Given the description of an element on the screen output the (x, y) to click on. 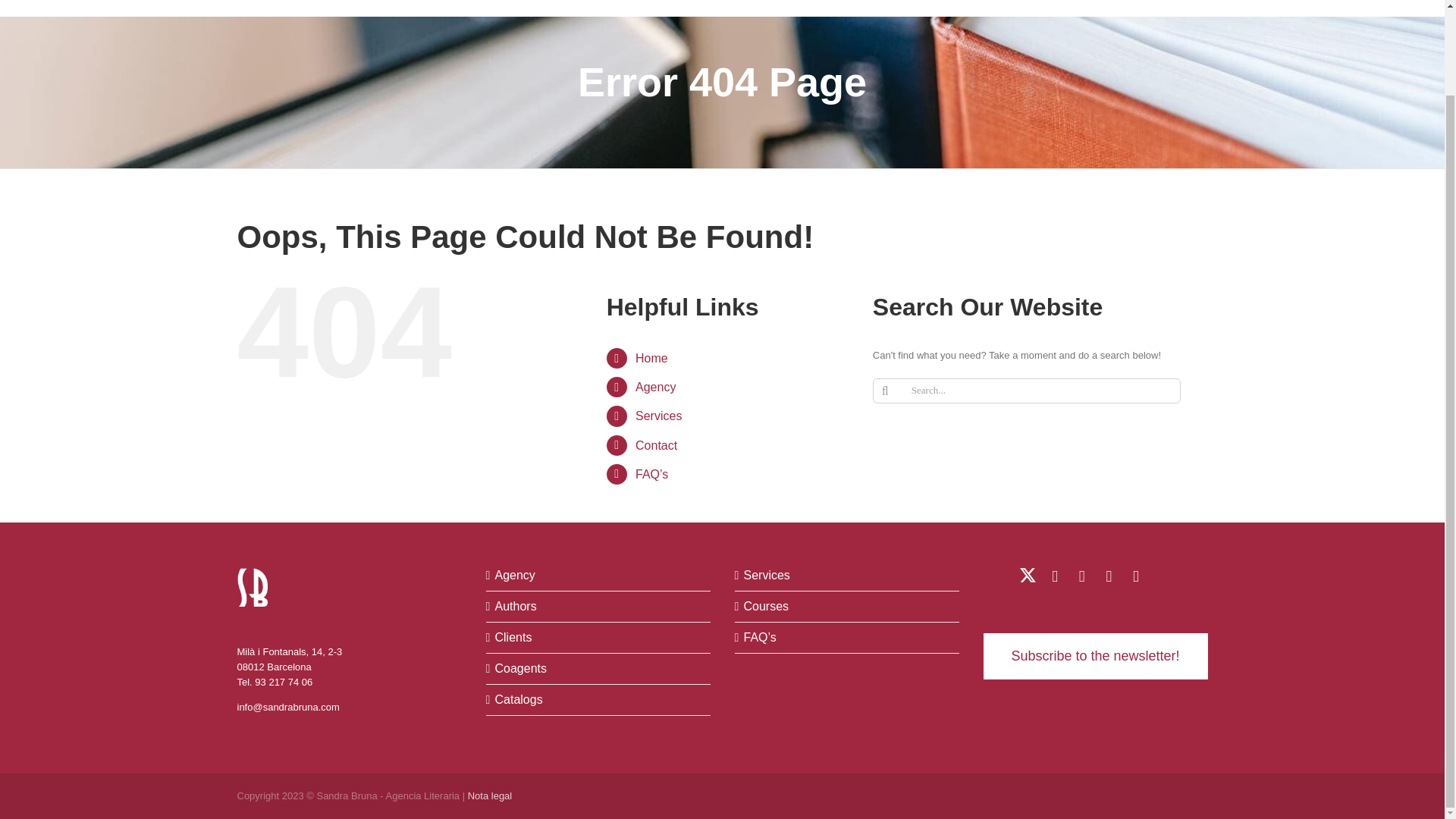
COURSES (983, 7)
LinkedIn (1054, 576)
AUTHORS (612, 7)
CONTACT (1155, 7)
COAGENTS (754, 7)
BLOG (1044, 7)
SERVICES (908, 7)
Instagram (1134, 576)
Facebook (1108, 576)
NEWS (1094, 7)
YouTube (1081, 576)
CATALOGS (834, 7)
AGENCY (542, 7)
CLIENTS (681, 7)
